Given the description of an element on the screen output the (x, y) to click on. 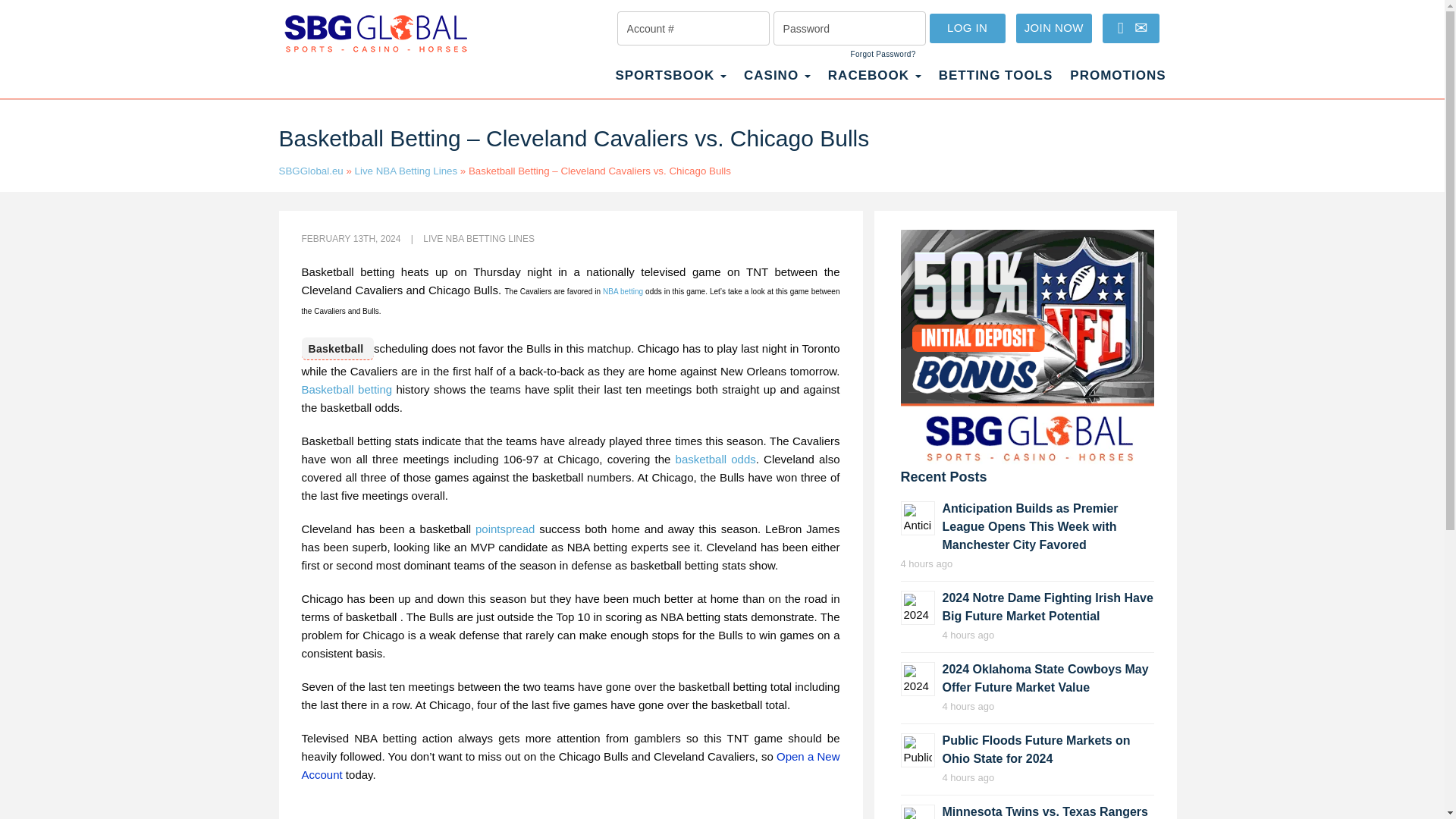
LOG IN (968, 28)
Sportsbook (670, 83)
JOIN NOW (1054, 28)
SPORTSBOOK (670, 83)
Forgot Password? (882, 53)
